Given the description of an element on the screen output the (x, y) to click on. 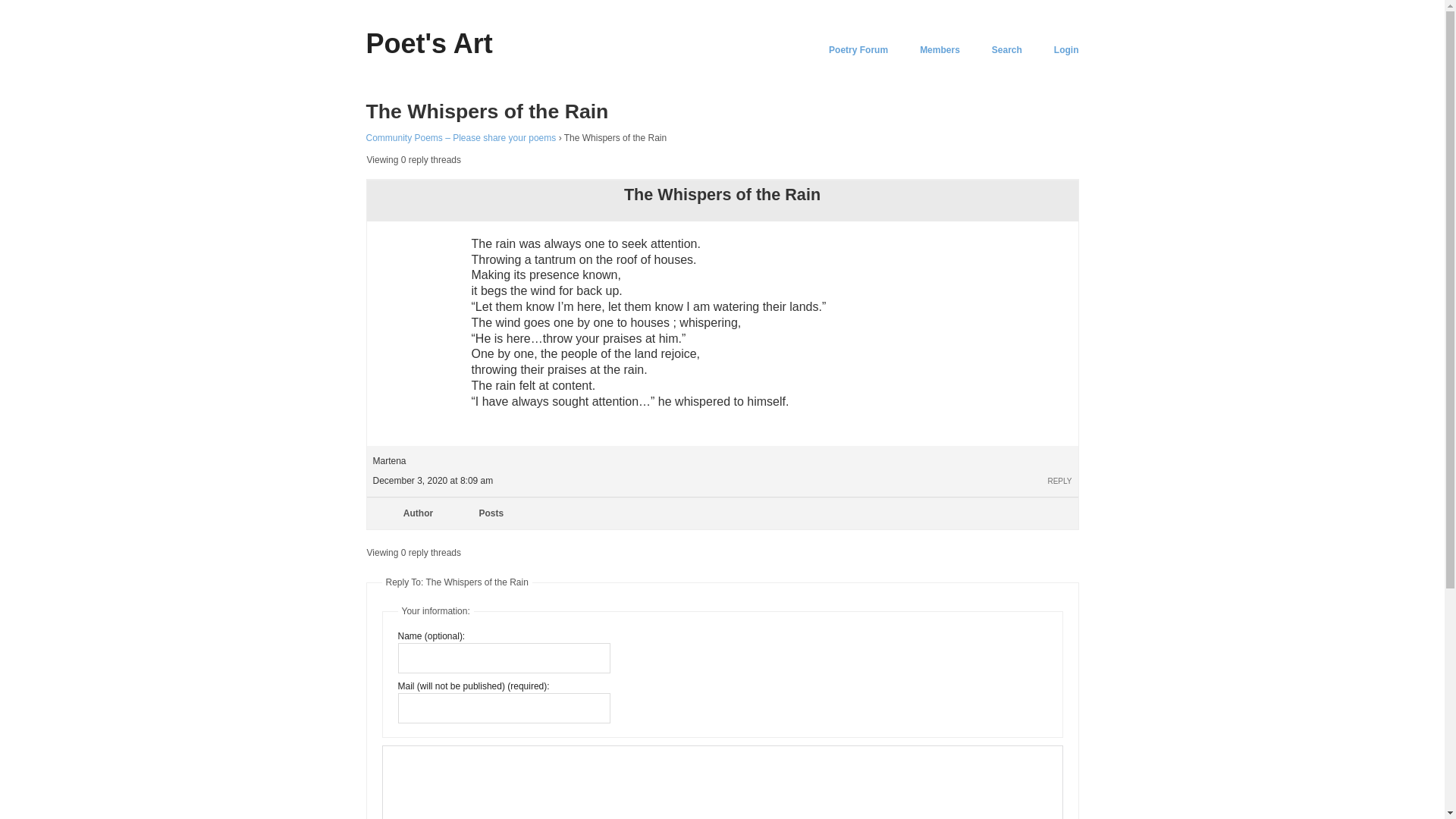
REPLY (1058, 480)
Poet's Art (428, 42)
Poetry Forum (858, 49)
Members (939, 49)
Login (1066, 49)
Search (1006, 49)
